Given the description of an element on the screen output the (x, y) to click on. 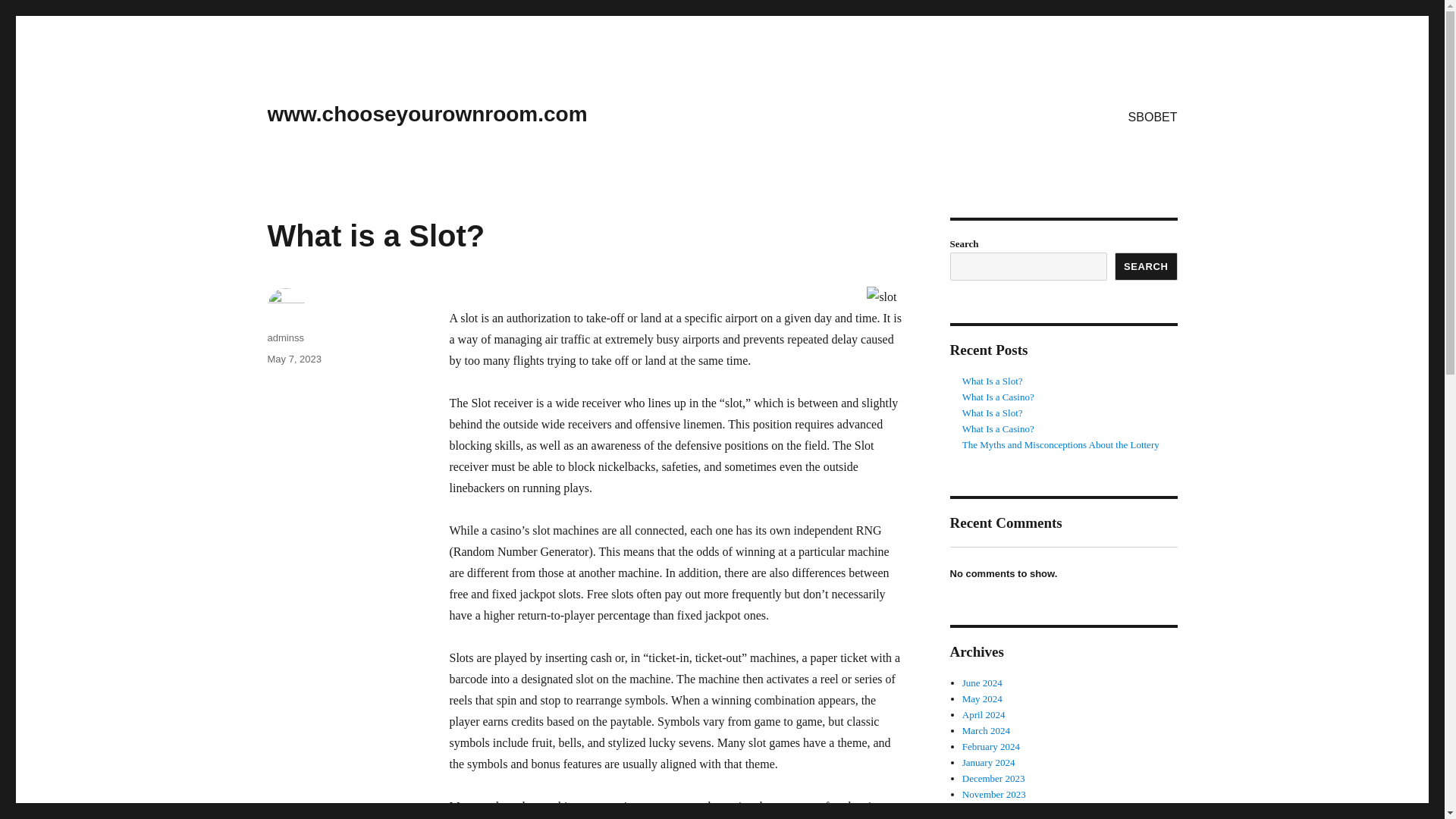
SBOBET (1153, 116)
What Is a Slot? (992, 412)
adminss (284, 337)
December 2023 (993, 778)
The Myths and Misconceptions About the Lottery (1060, 444)
February 2024 (991, 746)
October 2023 (989, 809)
www.chooseyourownroom.com (426, 114)
November 2023 (994, 794)
What Is a Casino? (997, 428)
March 2024 (986, 730)
What Is a Casino? (997, 396)
April 2024 (984, 714)
What Is a Slot? (992, 380)
May 7, 2023 (293, 358)
